Given the description of an element on the screen output the (x, y) to click on. 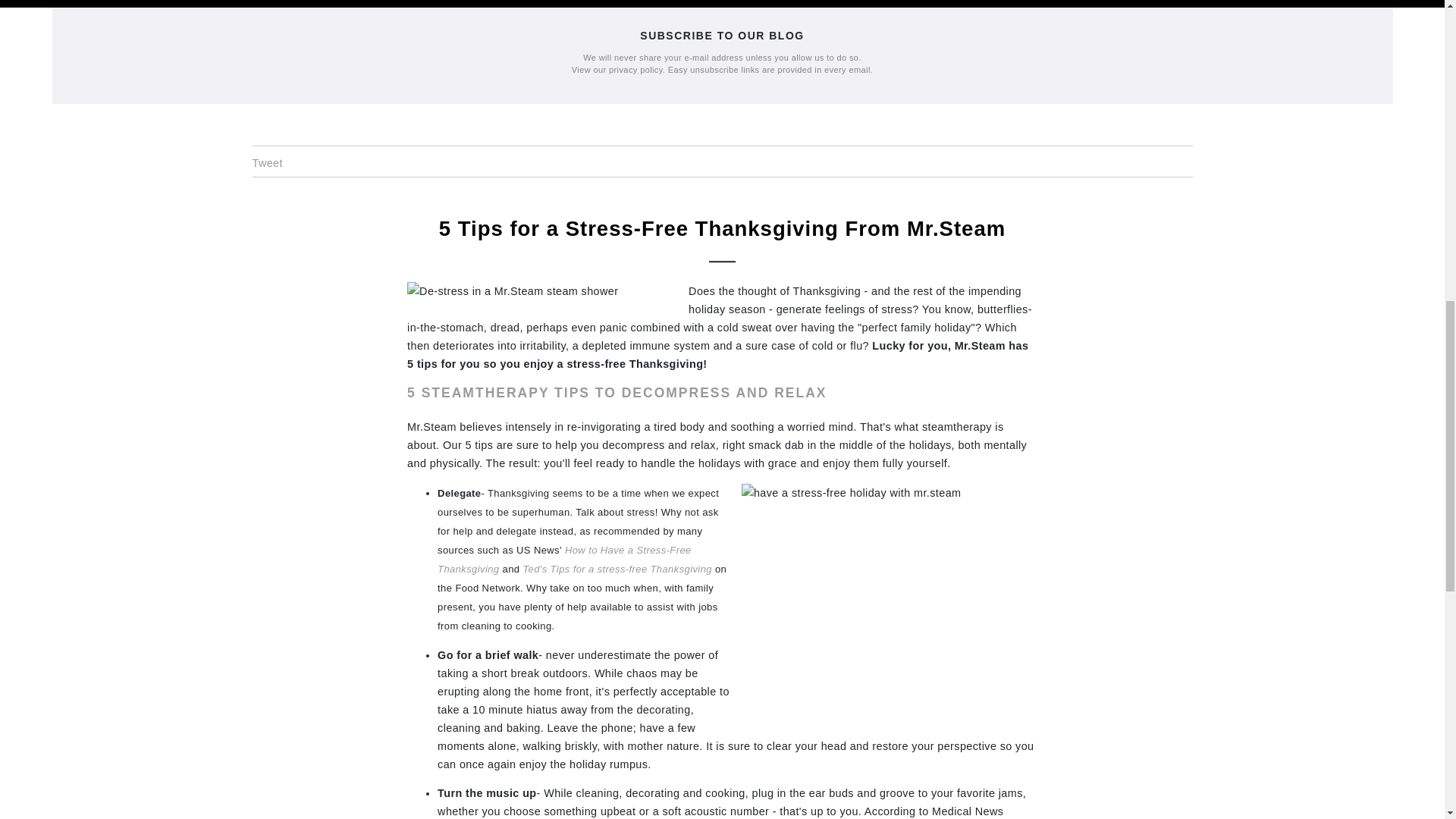
US News (564, 559)
Ted's Tips for a stress-free Thanksgiving (616, 568)
